Given the description of an element on the screen output the (x, y) to click on. 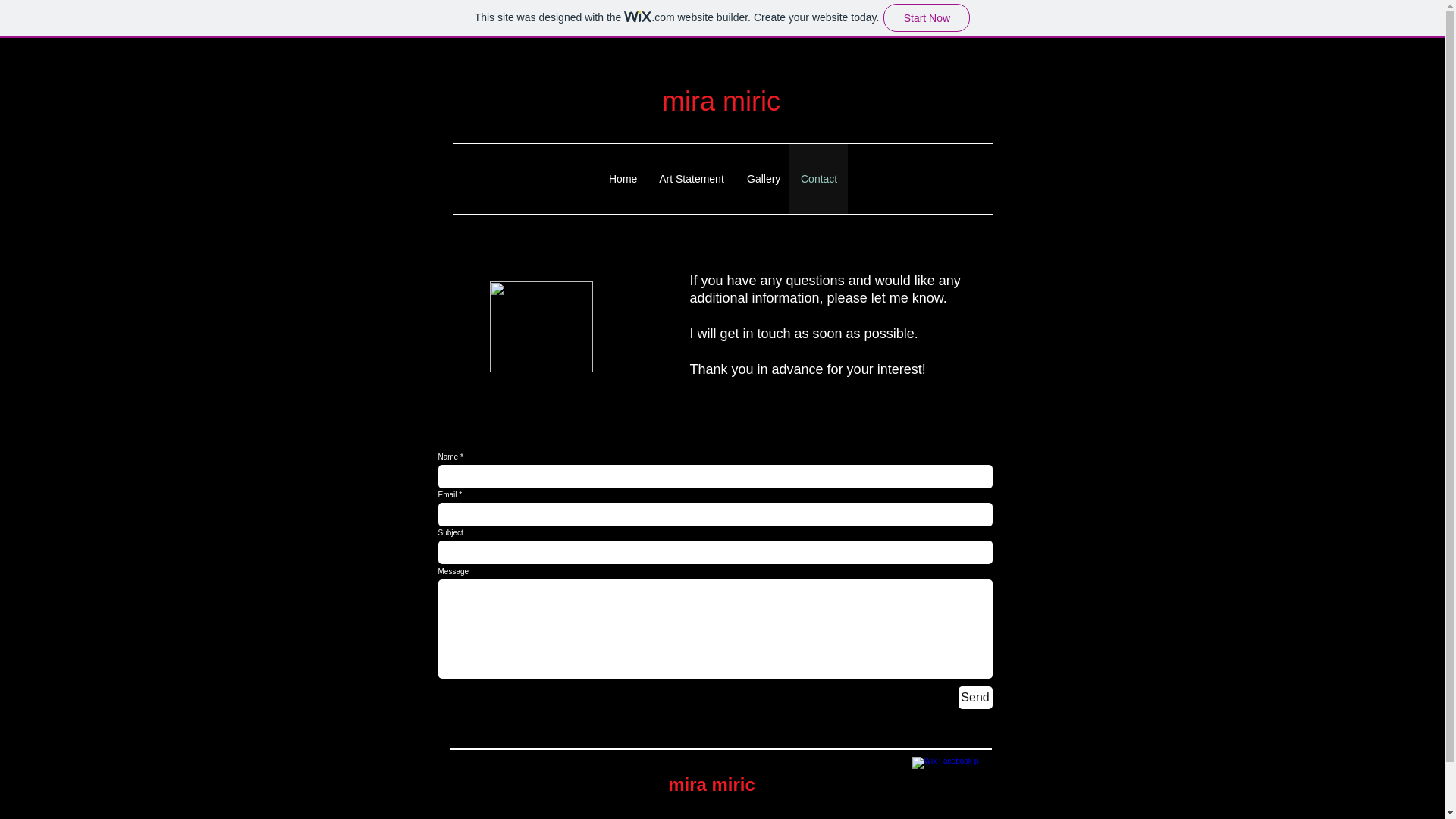
Contact (818, 178)
Home (621, 178)
Gallery (762, 178)
Send (975, 697)
Art Statement (691, 178)
